Given the description of an element on the screen output the (x, y) to click on. 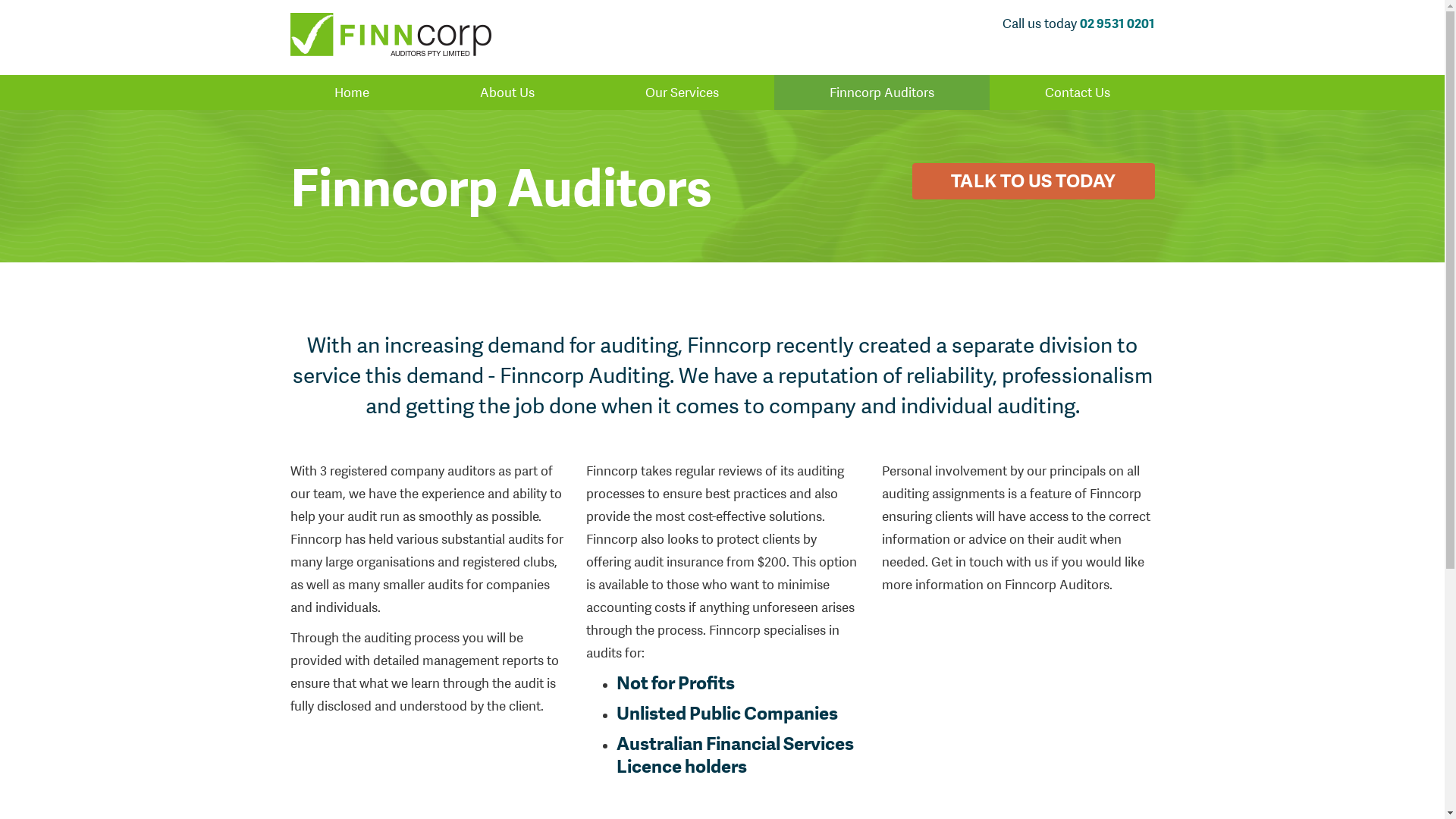
Our Services Element type: text (681, 92)
TALK TO US TODAY Element type: text (1033, 181)
Home Element type: text (351, 92)
Finncorp Auditors Element type: text (881, 92)
Contact Us Element type: text (1077, 92)
About Us Element type: text (506, 92)
